Given the description of an element on the screen output the (x, y) to click on. 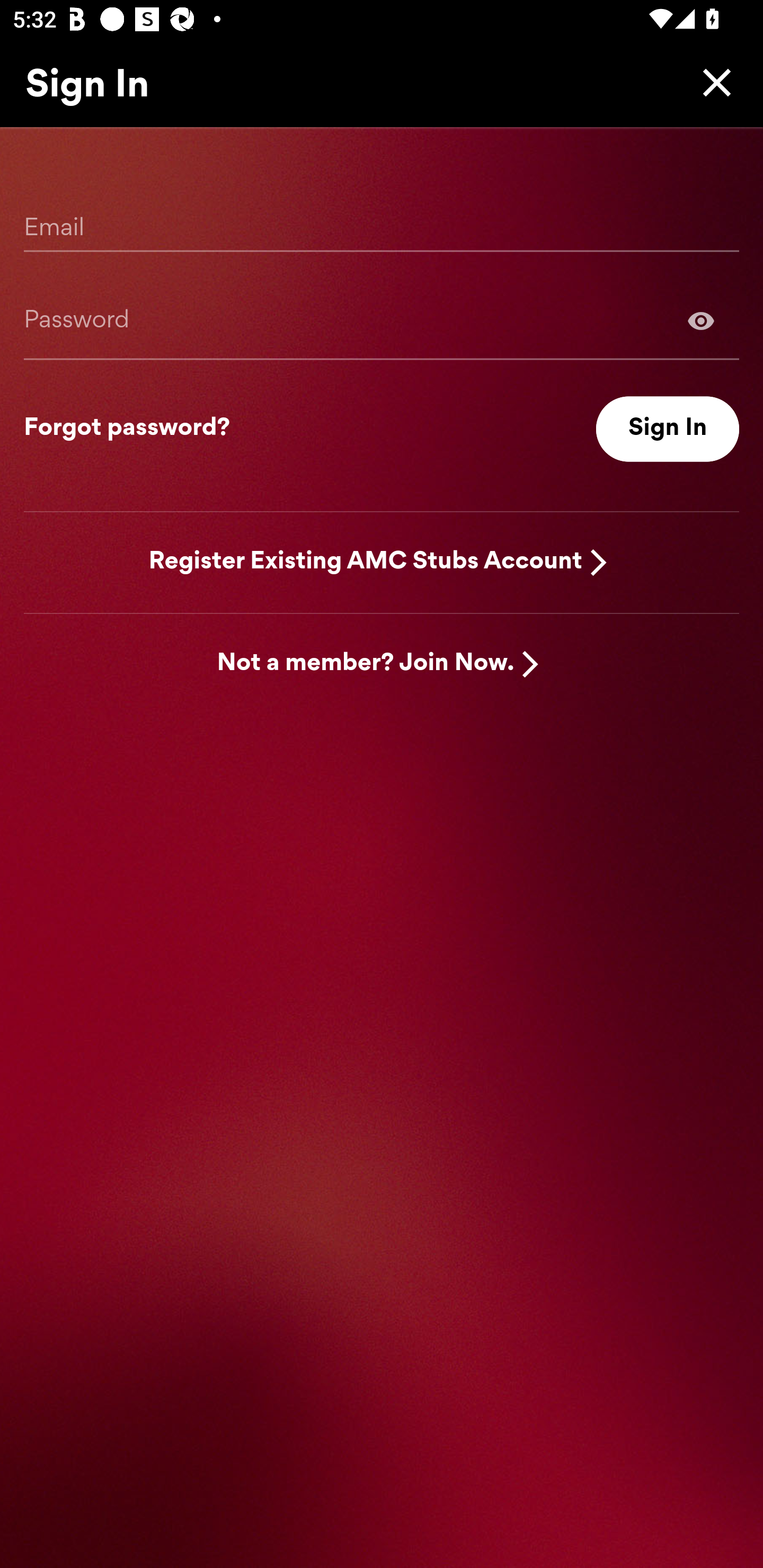
Close (712, 82)
Show Password (381, 320)
Show Password (701, 320)
Forgot password? (126, 428)
Sign In (667, 428)
Register Existing AMC Stubs Account (365, 561)
Not a member? Join Now. (365, 663)
